Given the description of an element on the screen output the (x, y) to click on. 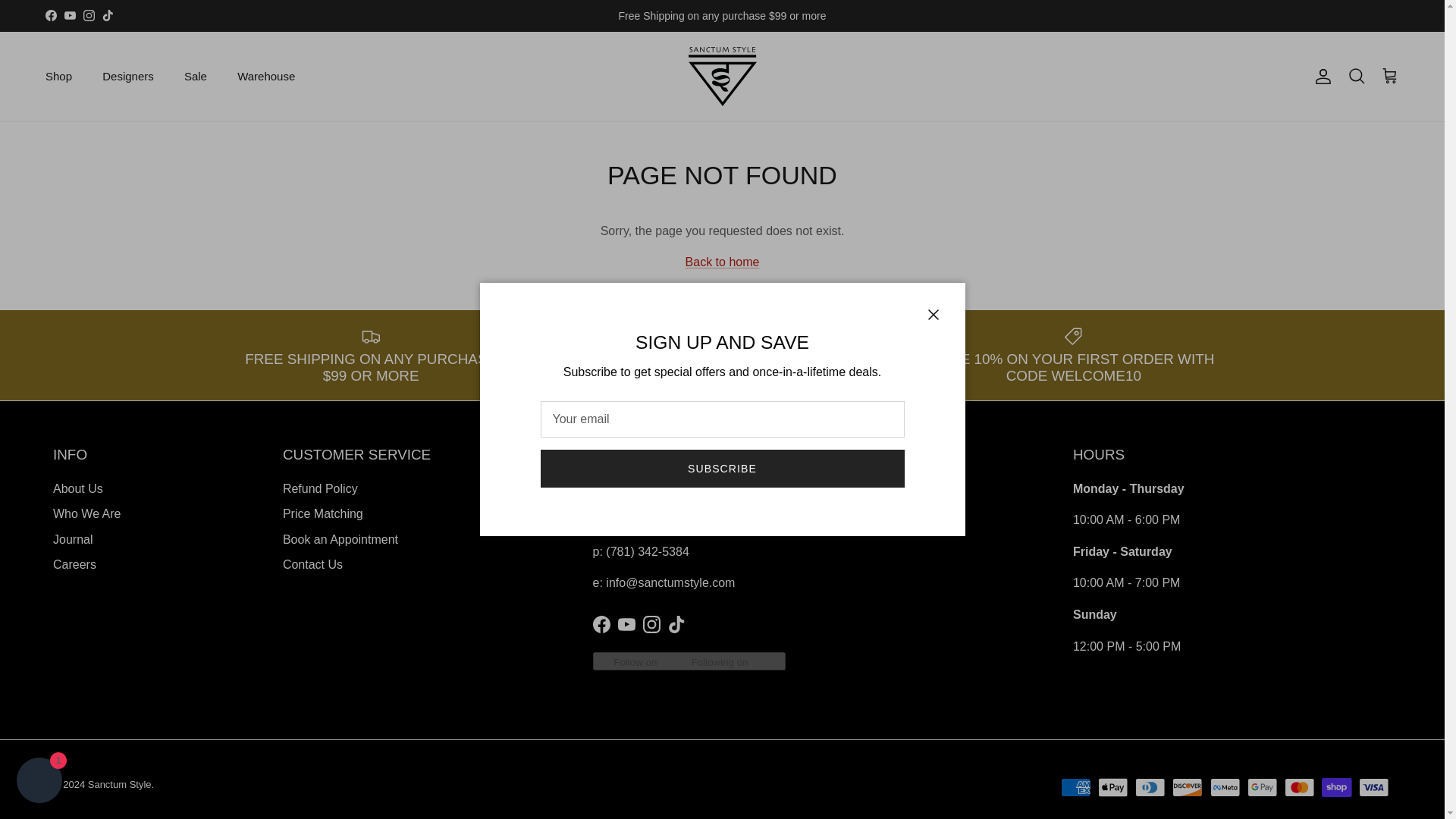
Apple Pay (1112, 787)
Shop (58, 76)
Designers (127, 76)
Sanctum Style on Facebook (601, 624)
Search (1356, 76)
Warehouse (266, 76)
Sale (195, 76)
Google Pay (1261, 787)
Sanctum Style on TikTok (107, 15)
Cart (1389, 76)
YouTube (69, 15)
Sanctum Style on Instagram (652, 624)
American Express (1075, 787)
Facebook (50, 15)
TikTok (107, 15)
